Given the description of an element on the screen output the (x, y) to click on. 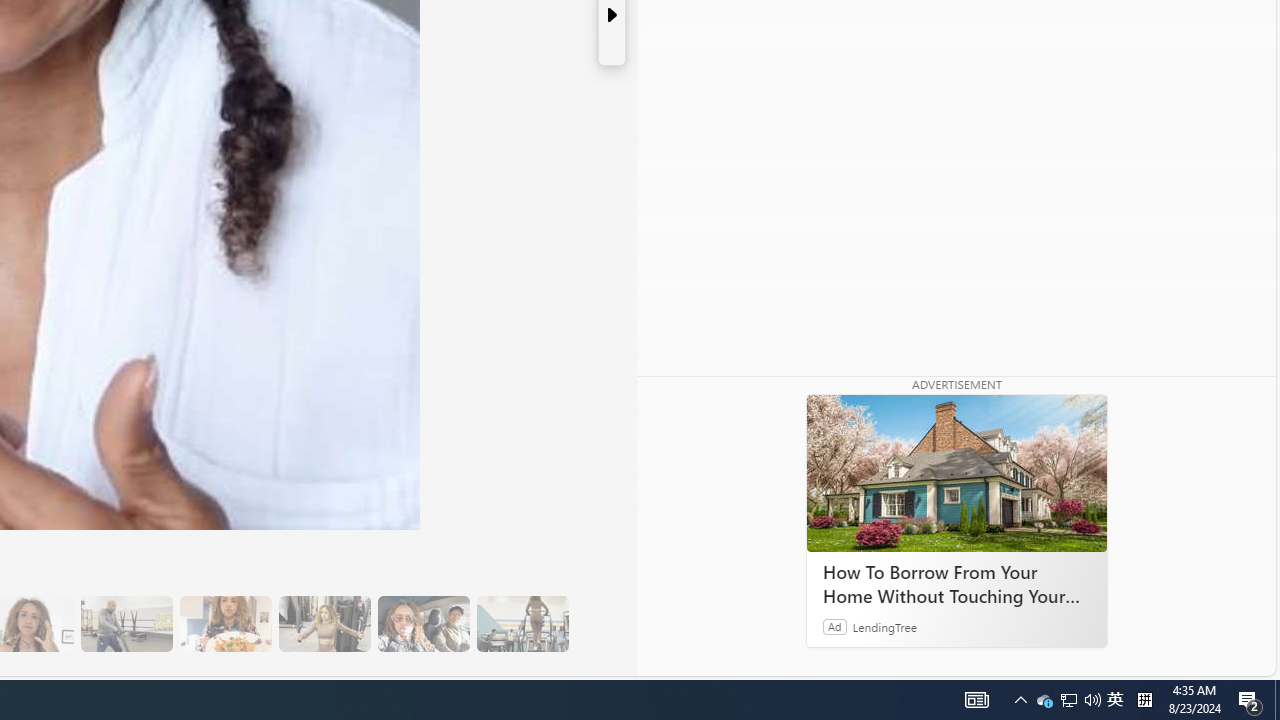
15 They Also Indulge in a Low-Calorie Sweet Treat (324, 624)
14 They Have Salmon and Veggies for Dinner (225, 624)
